Given the description of an element on the screen output the (x, y) to click on. 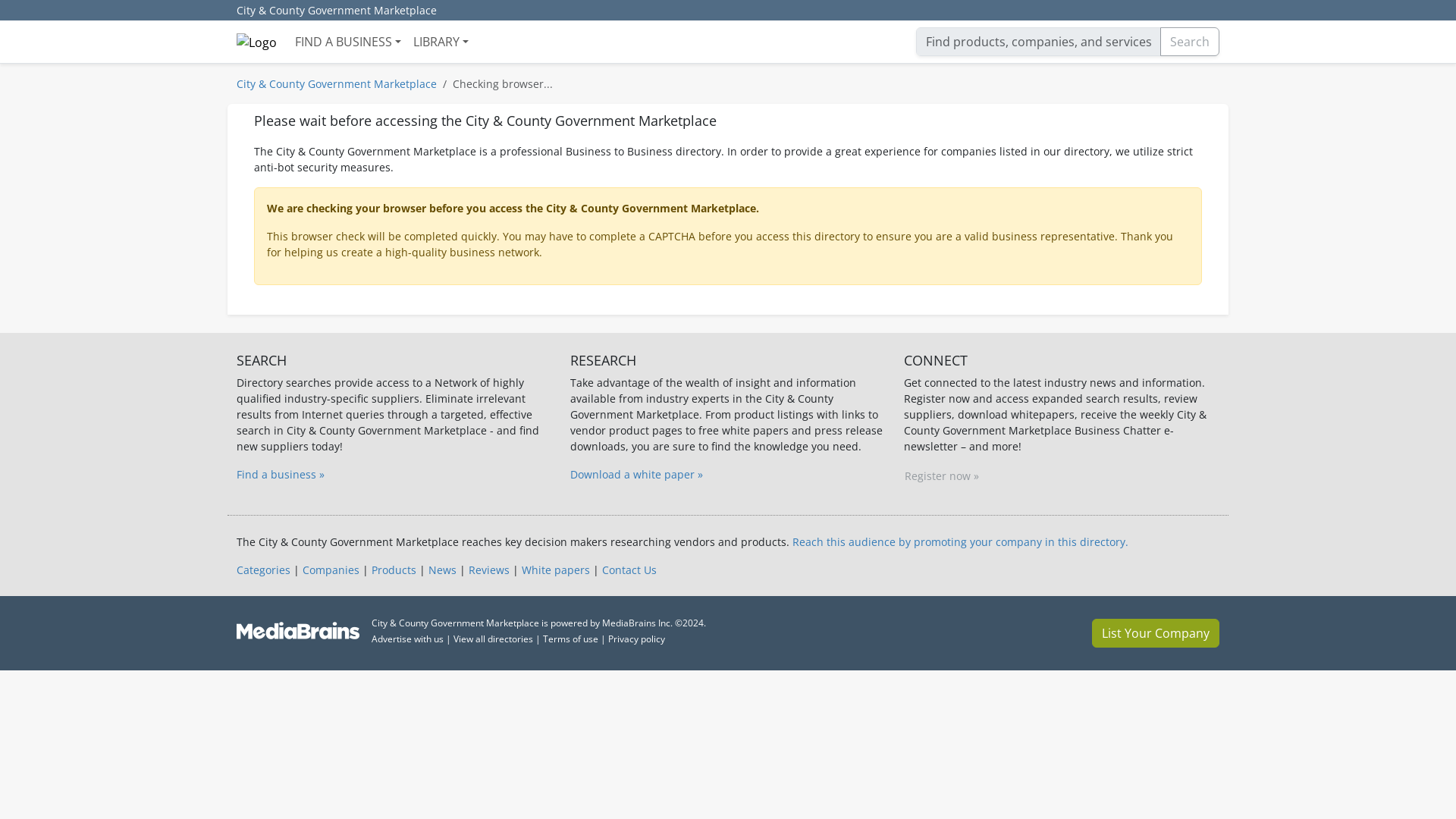
Privacy policy (636, 638)
Contact Us (629, 569)
News (442, 569)
Categories (262, 569)
Companies (330, 569)
Terms of use (570, 638)
Products (393, 569)
Advertise with us (407, 638)
White papers (555, 569)
